Given the description of an element on the screen output the (x, y) to click on. 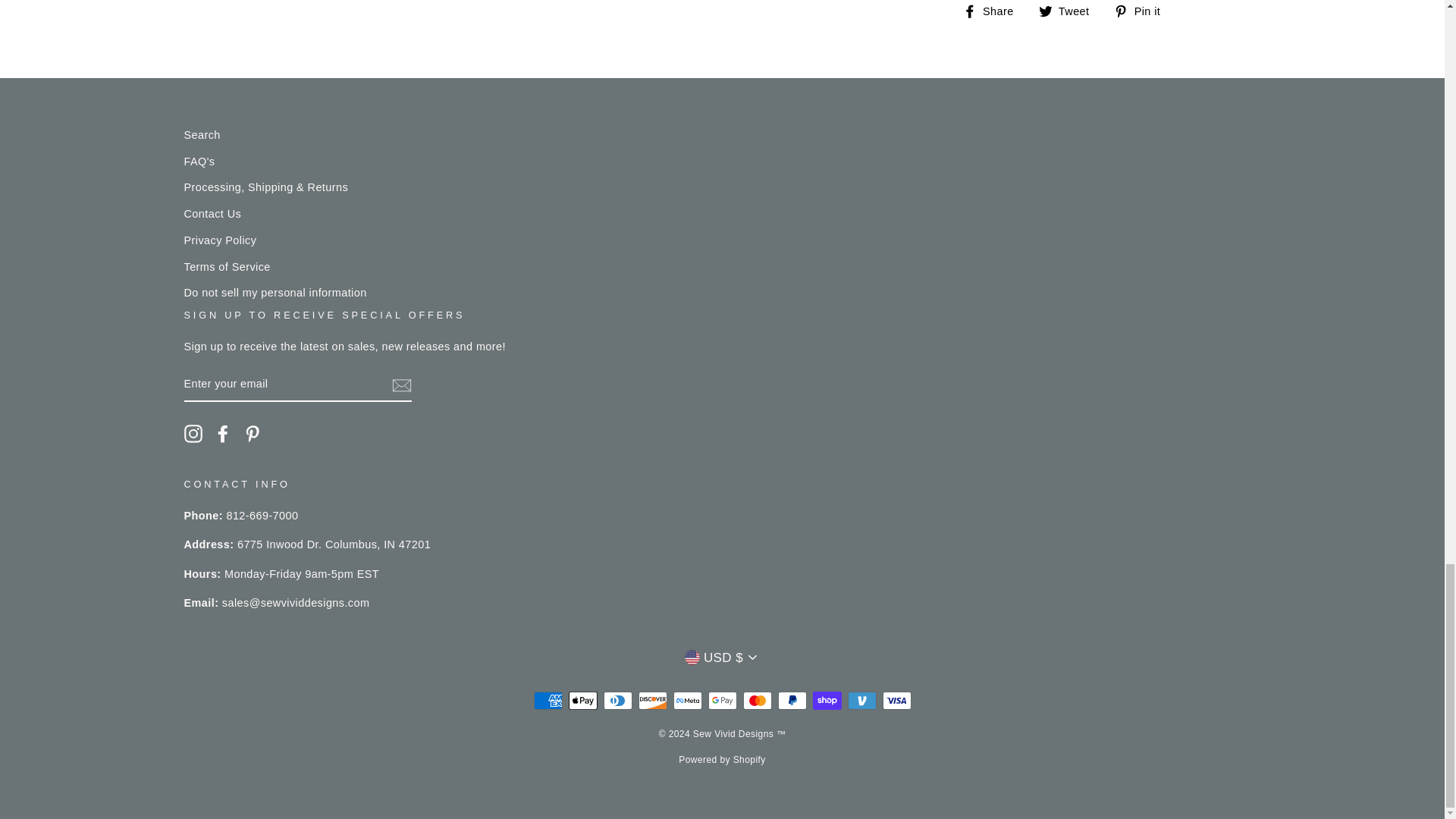
Share on Facebook (993, 10)
Sew Vivid Designs on Pinterest (251, 434)
Sew Vivid Designs on Facebook (222, 434)
American Express (548, 700)
Pin on Pinterest (1142, 10)
Tweet on Twitter (1069, 10)
Sew Vivid Designs on Instagram (192, 434)
Apple Pay (582, 700)
